Given the description of an element on the screen output the (x, y) to click on. 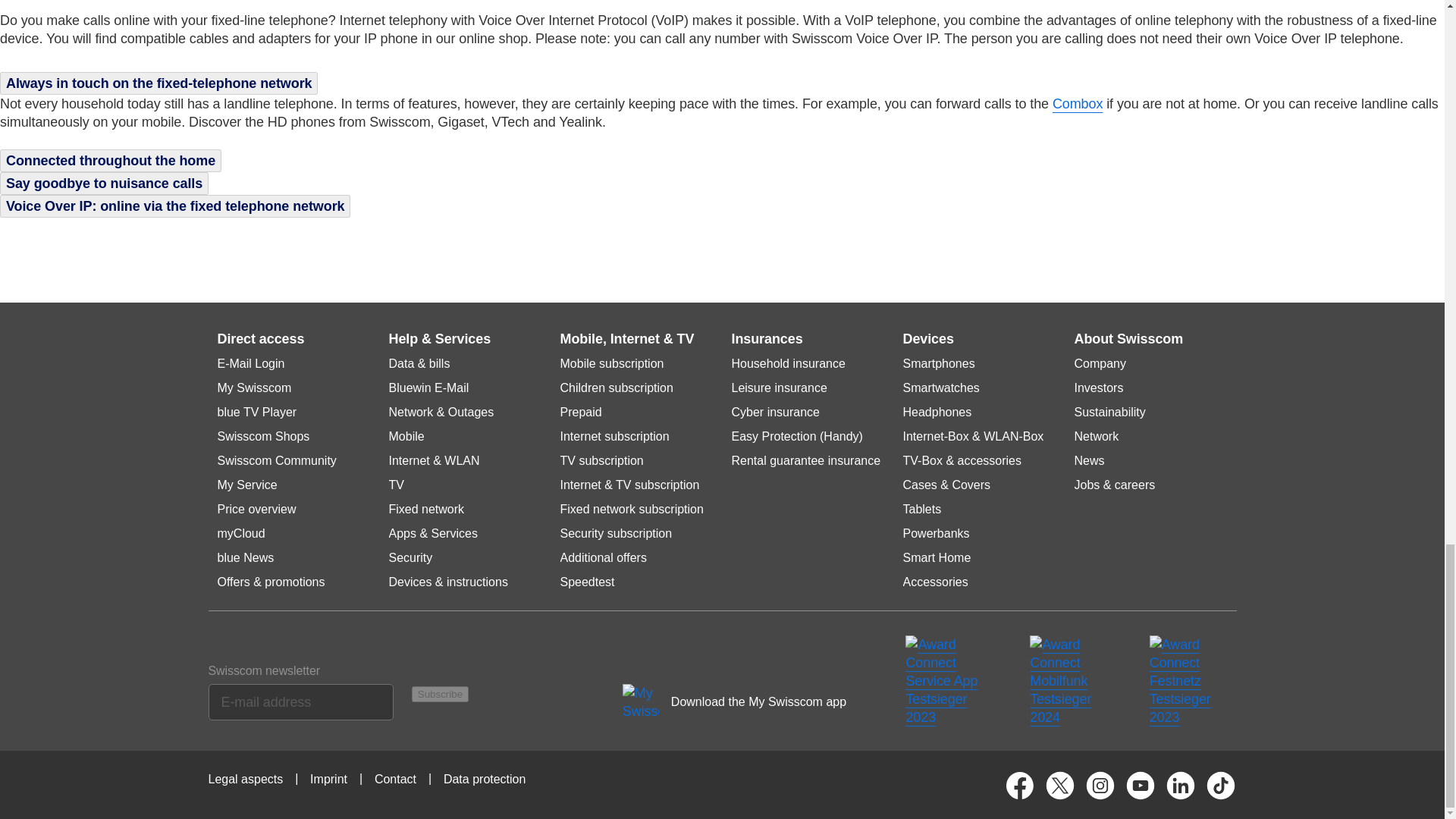
blue TV Player (256, 412)
blue News (244, 558)
TV (395, 485)
Swisscom Shops (262, 436)
Bluewin E-Mail (428, 387)
My Swisscom (253, 387)
Fixed network (426, 509)
Security (410, 558)
myCloud (240, 533)
Internet subscription (613, 436)
My Service (246, 485)
Children subscription (615, 387)
Mobile (405, 436)
Mobile subscription (611, 364)
Prepaid (580, 412)
